Given the description of an element on the screen output the (x, y) to click on. 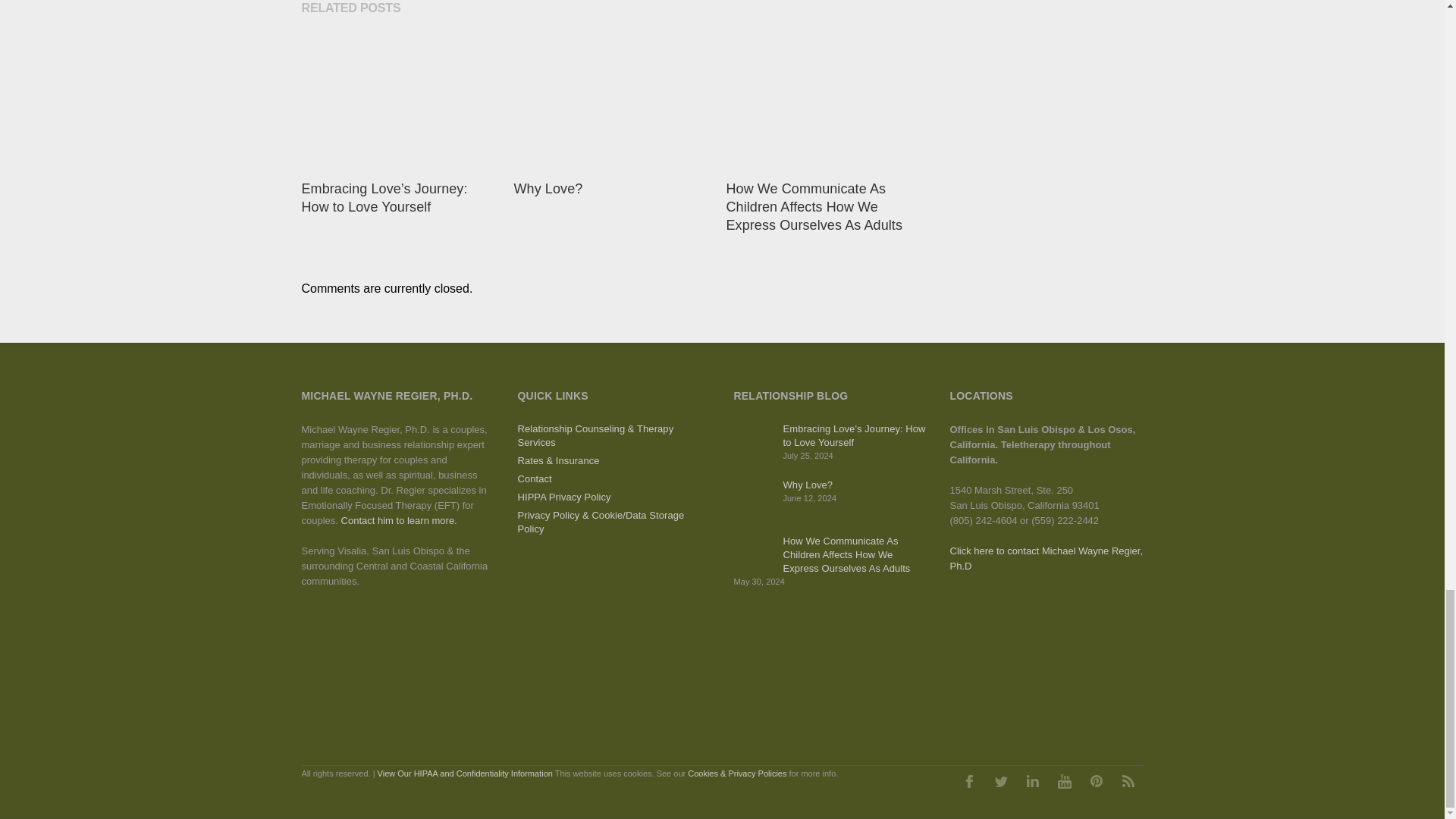
Facebook (968, 780)
Youtube (1064, 780)
Pinterest (1096, 780)
Twitter (1000, 780)
LinkedIn (1032, 780)
RSS (1127, 780)
